Given the description of an element on the screen output the (x, y) to click on. 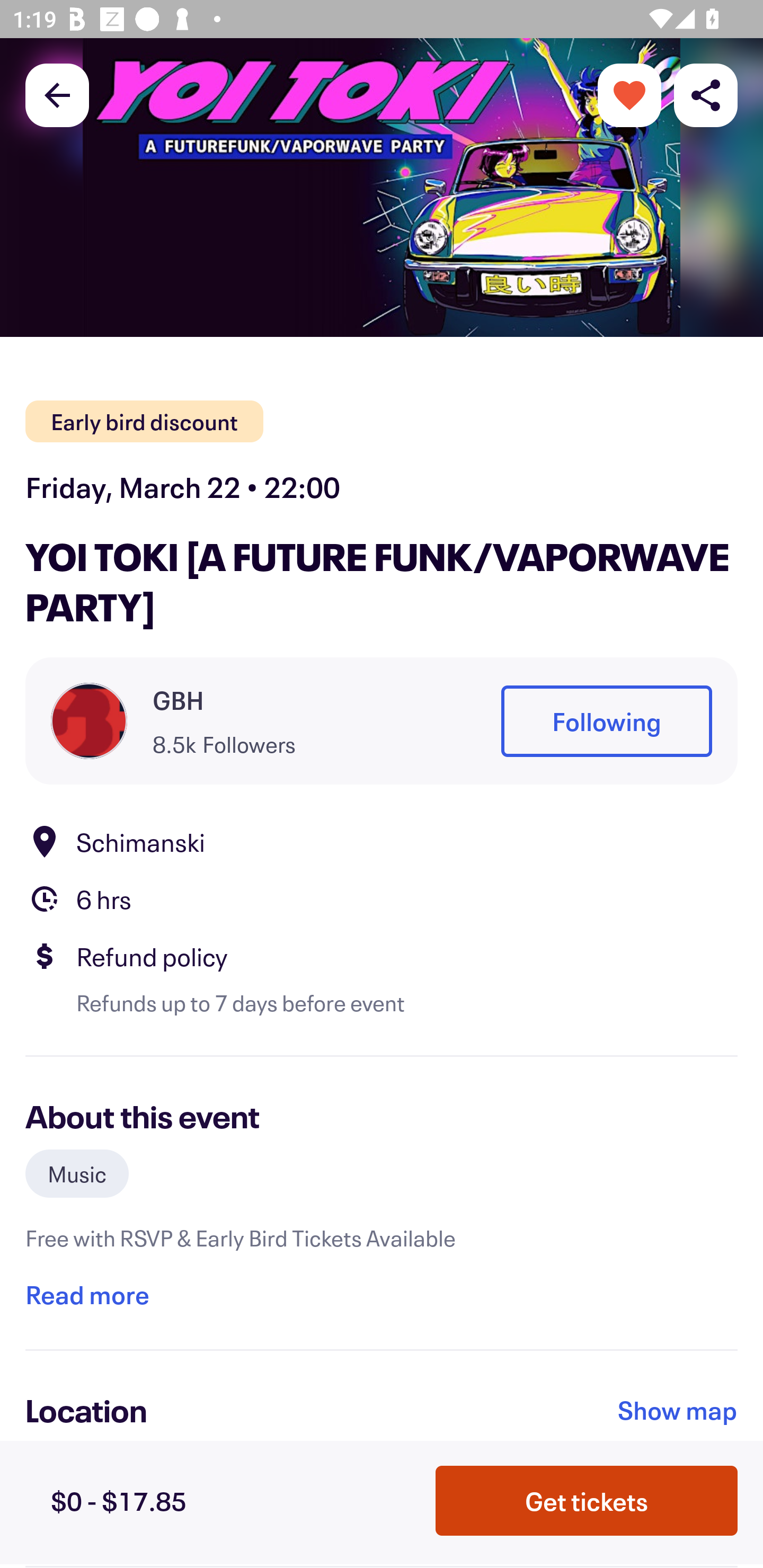
Back (57, 94)
More (629, 94)
Share (705, 94)
Early bird discount (144, 421)
GBH (178, 699)
Organizer profile picture (89, 720)
Following (606, 720)
Location Schimanski (381, 840)
Read more (87, 1293)
Show map (677, 1410)
